Given the description of an element on the screen output the (x, y) to click on. 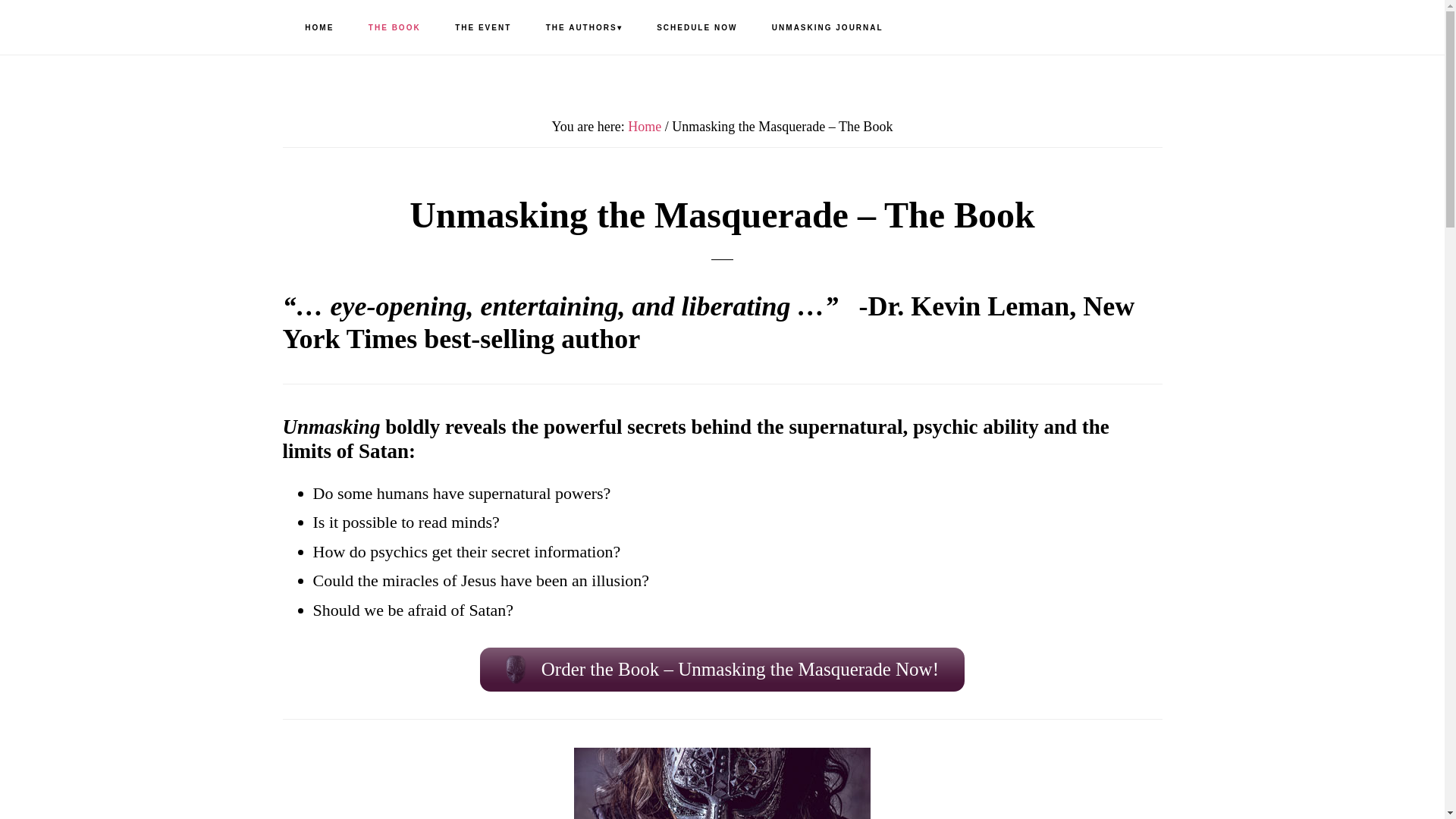
THE EVENT (482, 27)
UNMASKING JOURNAL (827, 27)
Home (644, 126)
UNMASKING THE MASQUERADE (98, 26)
HOME (319, 27)
SCHEDULE NOW (697, 27)
THE BOOK (394, 27)
